Given the description of an element on the screen output the (x, y) to click on. 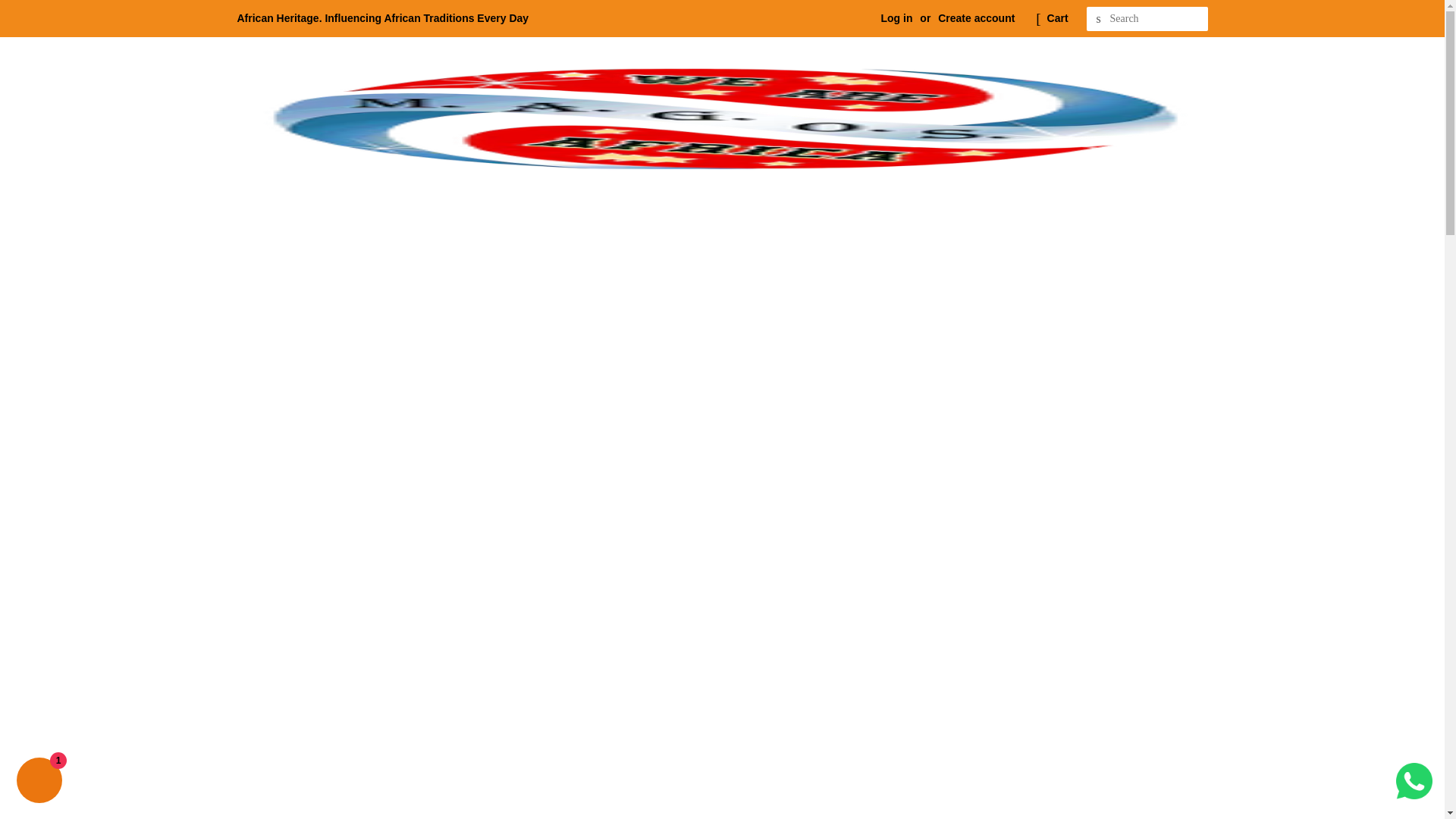
Shopify online store chat (38, 781)
Search (1097, 18)
Create account (975, 18)
Cart (1057, 18)
Log in (896, 18)
